Given the description of an element on the screen output the (x, y) to click on. 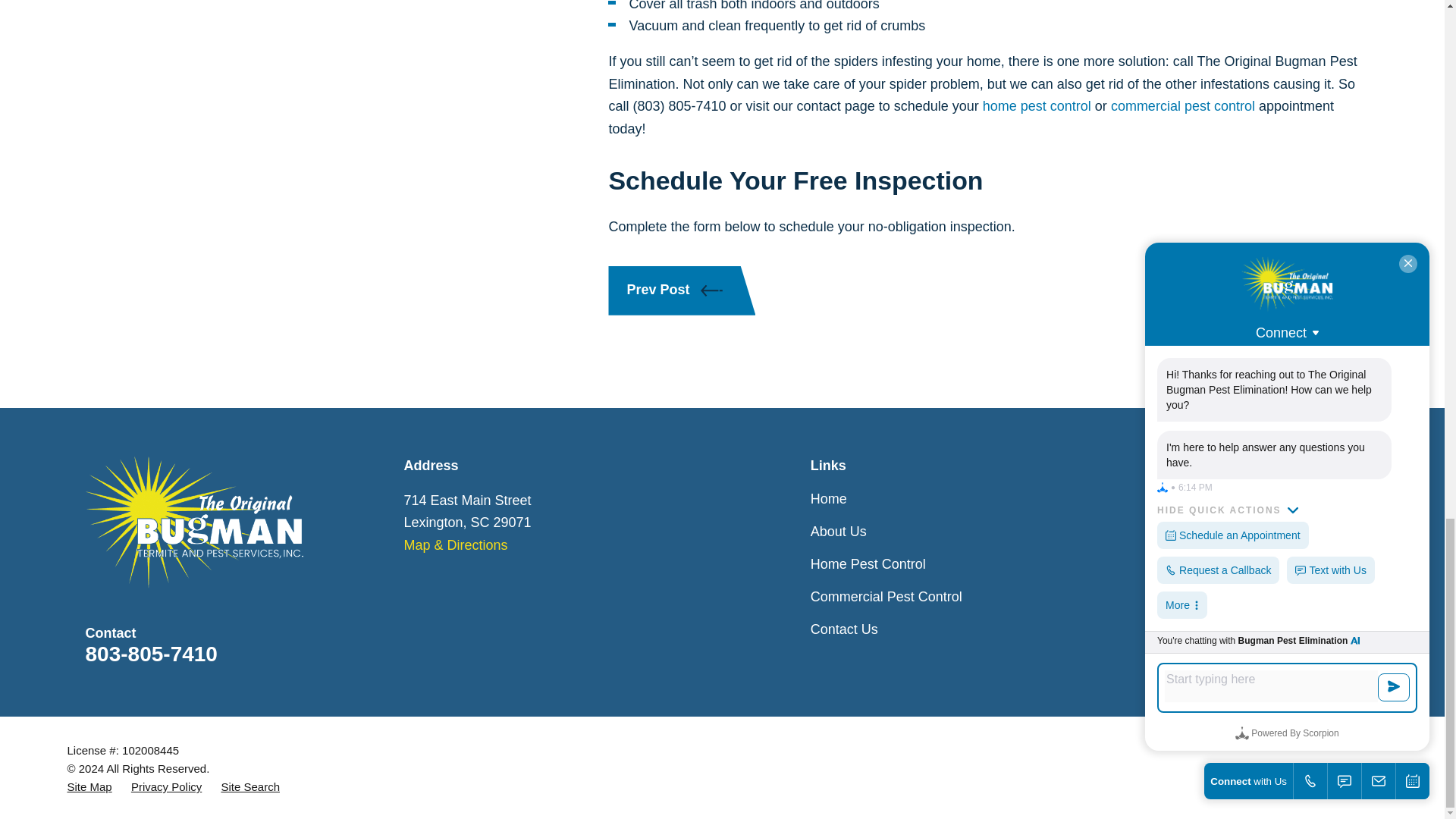
Facebook (1250, 498)
Google Business Profile (1348, 498)
Yelp (1299, 498)
Home (193, 522)
